Given the description of an element on the screen output the (x, y) to click on. 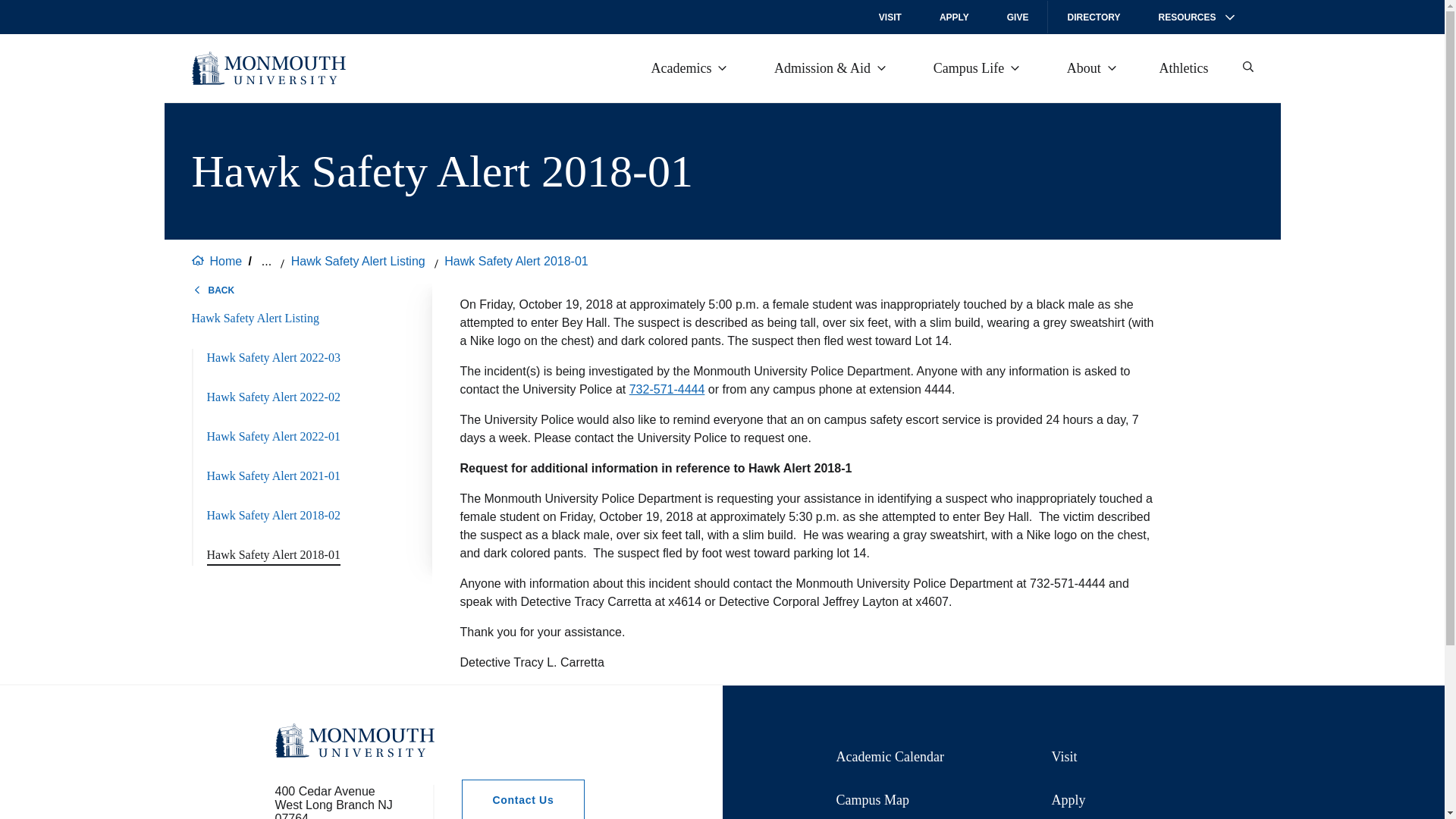
Academics (688, 67)
Monmouth Homepage (267, 68)
RESOURCES (1195, 16)
VISIT (890, 16)
GIVE (1018, 16)
APPLY (954, 16)
DIRECTORY (1093, 16)
Athletics Homepage (1186, 68)
Open Site Search (1246, 66)
